Given the description of an element on the screen output the (x, y) to click on. 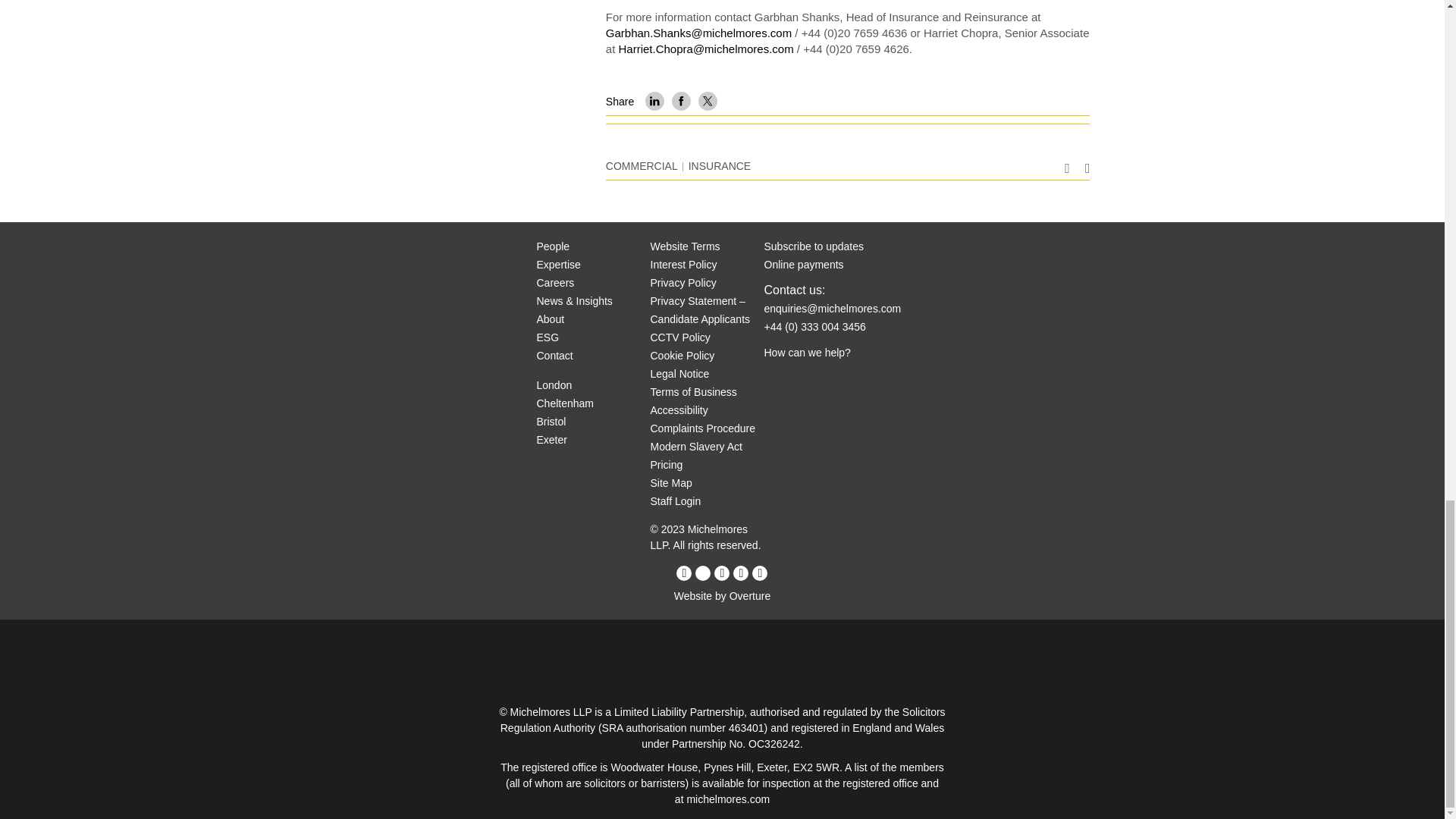
Interest Policy (683, 264)
Contact (555, 355)
About (550, 318)
Website Terms (685, 246)
Expertise (558, 264)
London (554, 385)
ESG (548, 337)
Cheltenham (565, 403)
COMMERCIAL (641, 165)
INSURANCE (719, 165)
Exeter (552, 439)
Privacy Policy (683, 282)
Bristol (551, 421)
People (553, 246)
Careers (556, 282)
